Given the description of an element on the screen output the (x, y) to click on. 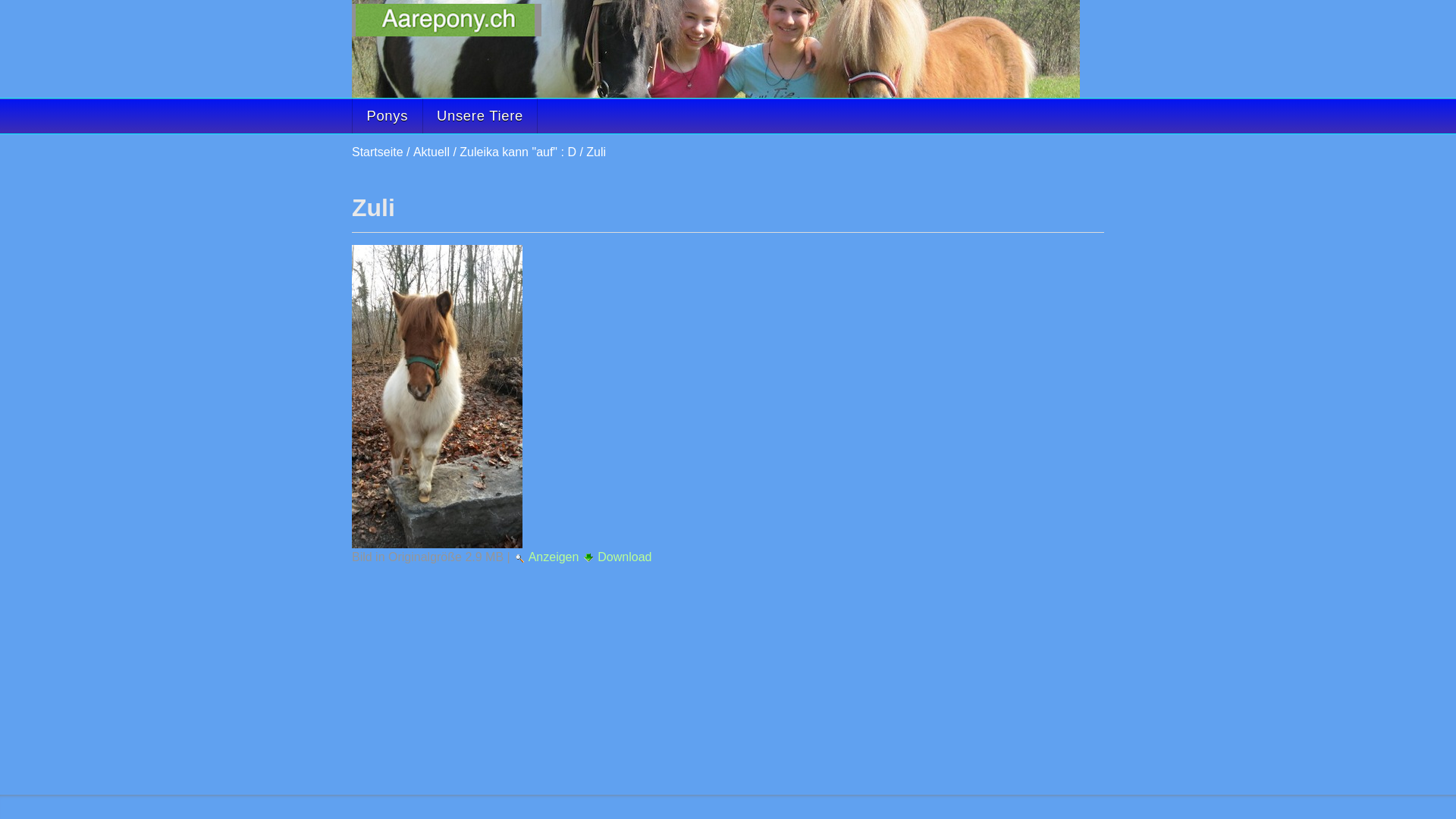
Bild anzeigen Element type: hover (519, 558)
Direkt zum Inhalt Element type: text (656, 30)
Zuli Element type: hover (436, 396)
Startseite Element type: text (377, 151)
Unsere Tiere Element type: text (479, 115)
Ponys Element type: text (386, 115)
AarePony - Ponyhof und Ponyreiten in der Stadt Bern Element type: hover (446, 19)
Zuli Element type: text (595, 151)
Bild herunterladen Element type: hover (588, 557)
Anzeigen Element type: text (547, 556)
Download Element type: text (617, 556)
Zuli Element type: hover (715, 48)
Zuleika kann "auf" : D Element type: text (517, 151)
